Given the description of an element on the screen output the (x, y) to click on. 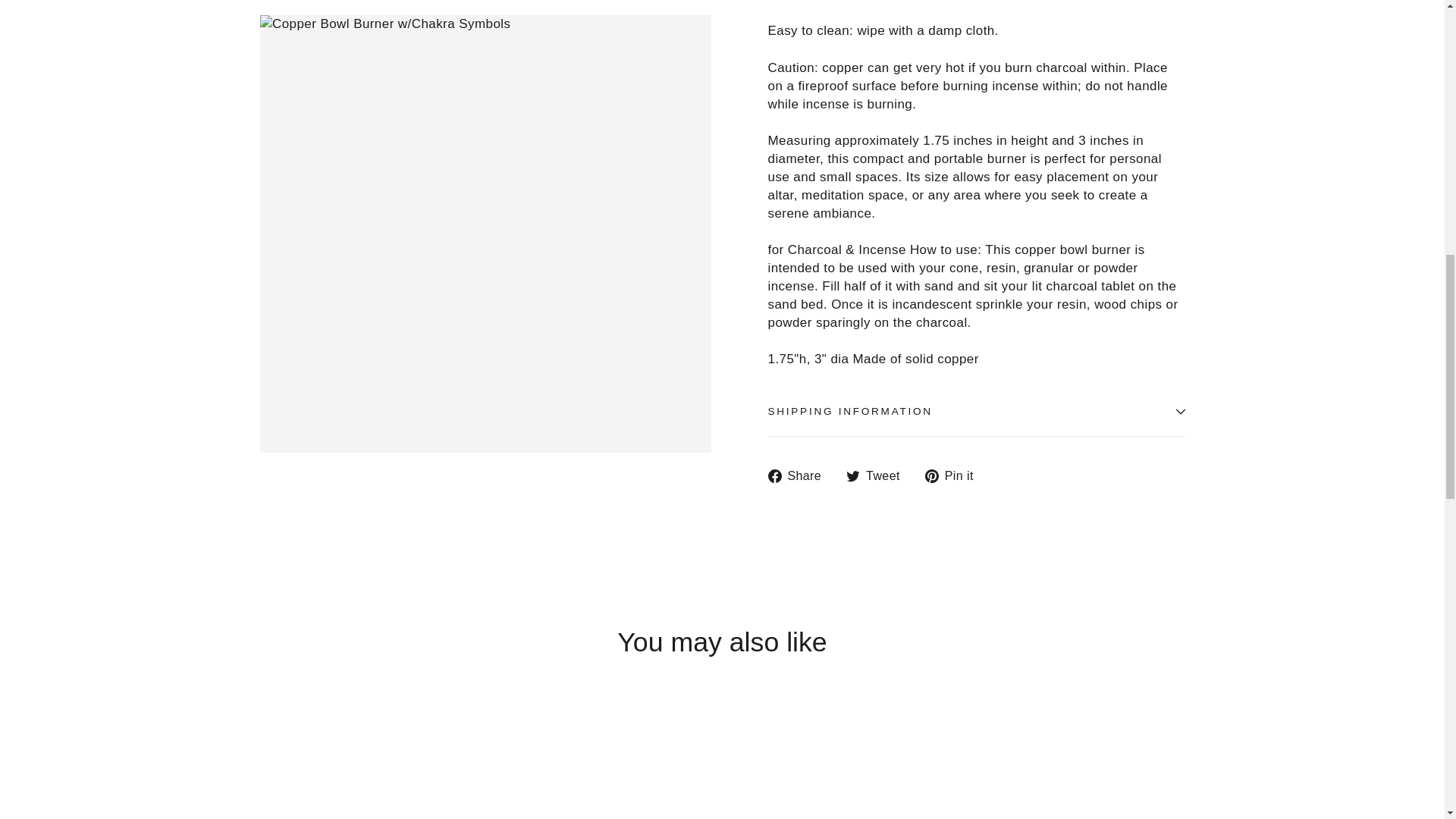
Share on Facebook (799, 476)
Tweet on Twitter (878, 476)
Pin on Pinterest (954, 476)
